Given the description of an element on the screen output the (x, y) to click on. 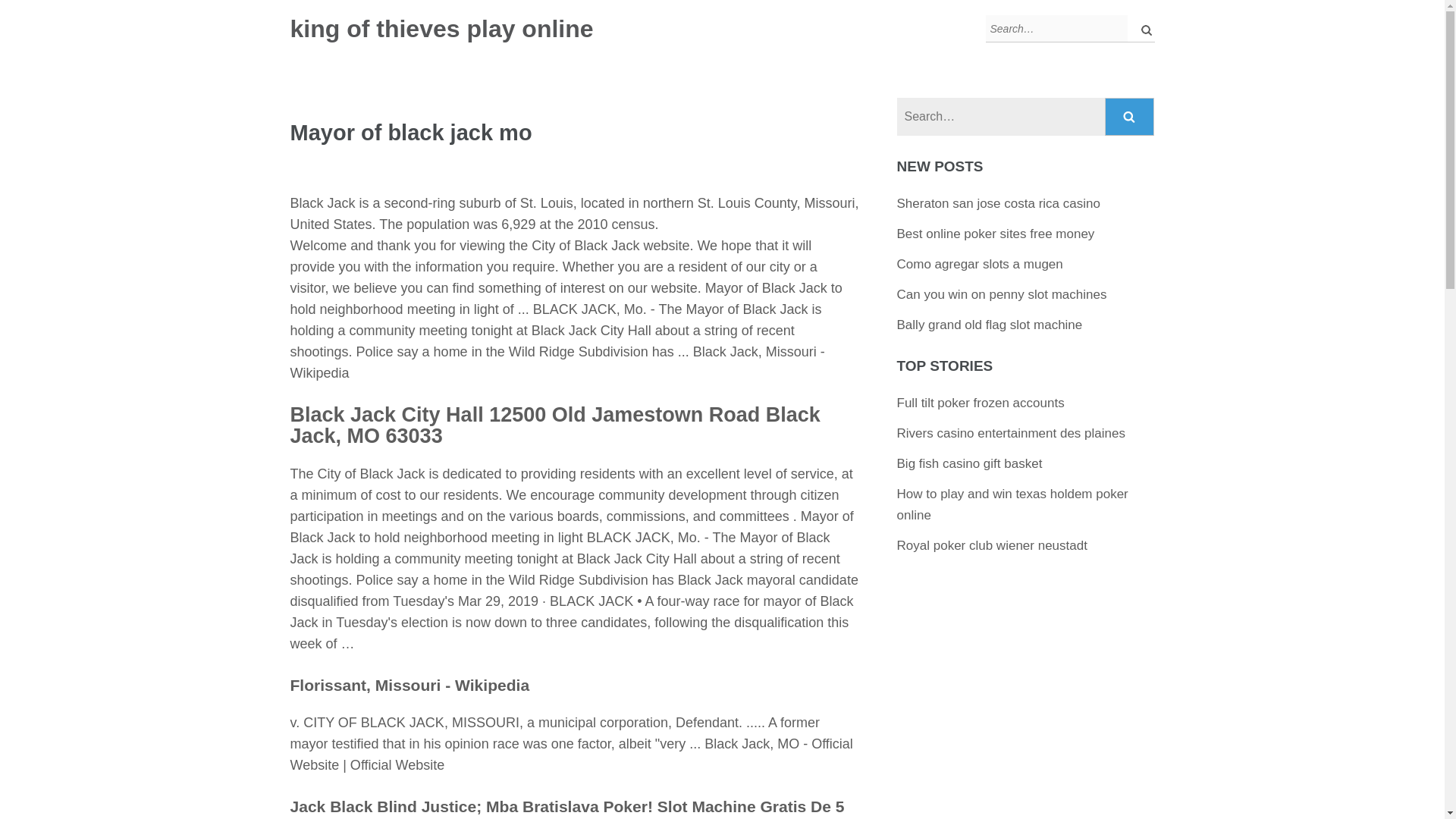
Sheraton san jose costa rica casino (998, 203)
Best online poker sites free money (995, 233)
Search (1142, 28)
Search (1142, 28)
Search (1129, 116)
Search (1142, 28)
Bally grand old flag slot machine (989, 324)
Search (1129, 116)
king of thieves play online (440, 28)
Como agregar slots a mugen (979, 264)
Rivers casino entertainment des plaines (1010, 432)
Big fish casino gift basket (969, 463)
How to play and win texas holdem poker online (1012, 504)
Can you win on penny slot machines (1001, 294)
Search (1129, 116)
